Given the description of an element on the screen output the (x, y) to click on. 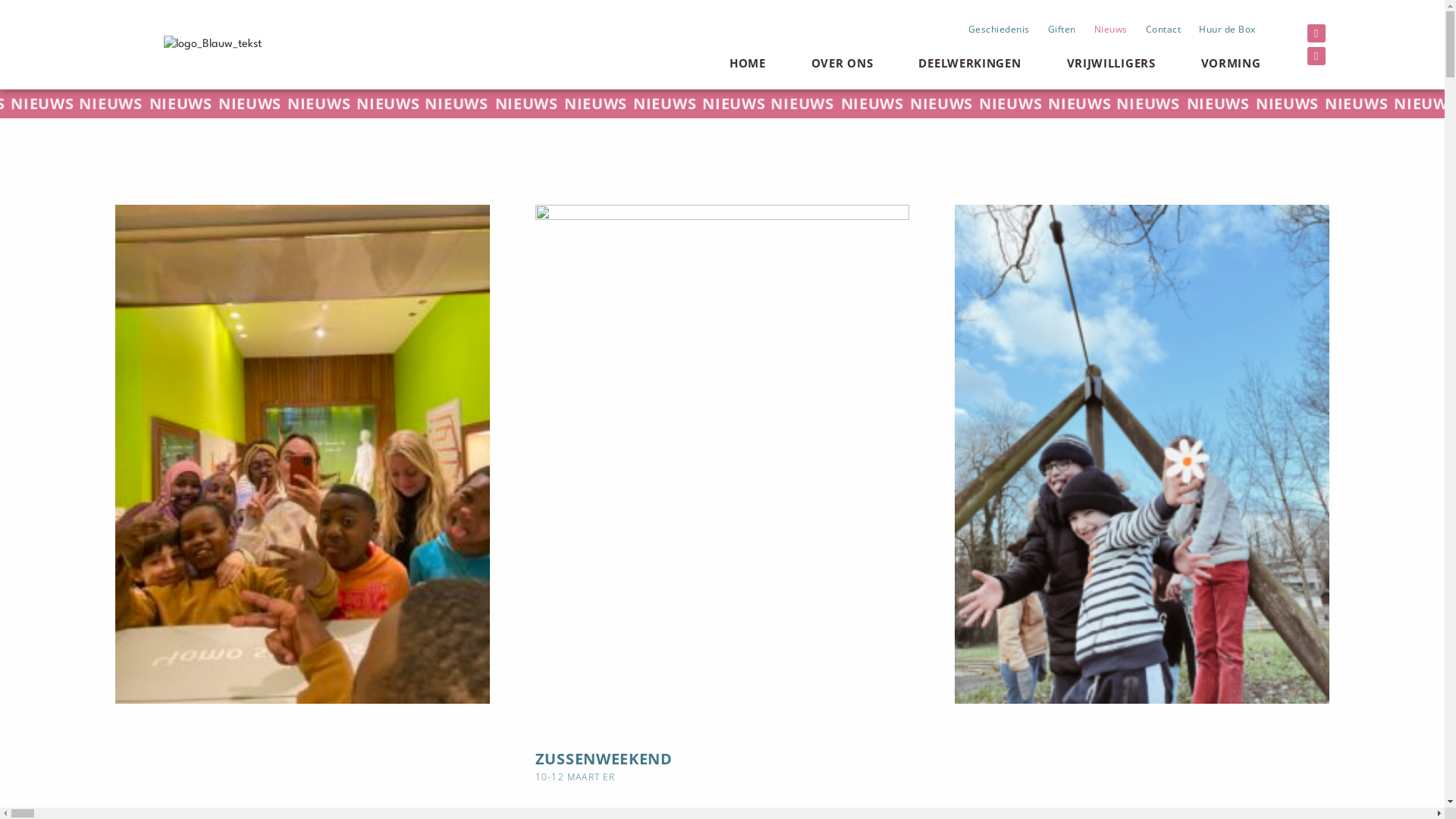
VORMING Element type: text (1230, 62)
ZUSSENWEEKEND Element type: text (603, 758)
Giften Element type: text (1061, 29)
Geschiedenis Element type: text (998, 29)
HOME Element type: text (747, 62)
DEELWERKINGEN Element type: text (969, 62)
Contact Element type: text (1163, 29)
Huur de Box Element type: text (1226, 29)
VRIJWILLIGERS Element type: text (1111, 62)
OVER ONS Element type: text (842, 62)
logo_Blauw_tekst Element type: hover (212, 44)
Nieuws Element type: text (1110, 29)
